Given the description of an element on the screen output the (x, y) to click on. 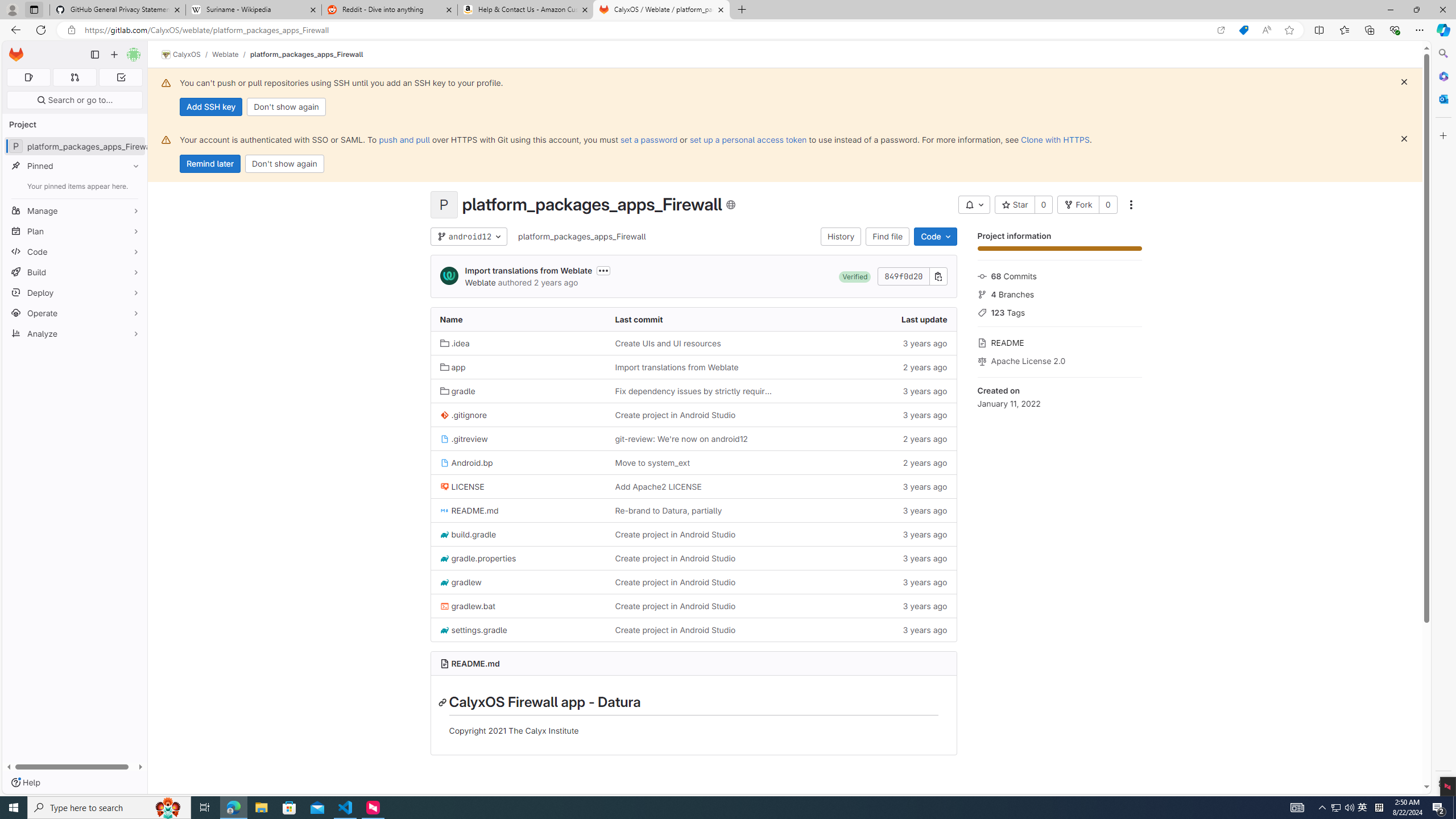
Last commit (693, 319)
Hosted Weblate's avatar (448, 275)
Build (74, 271)
set a password (649, 139)
Don't show again (284, 163)
Operate (74, 312)
Analyze (74, 333)
push and pull (403, 139)
Clone with HTTPS (1054, 139)
